Given the description of an element on the screen output the (x, y) to click on. 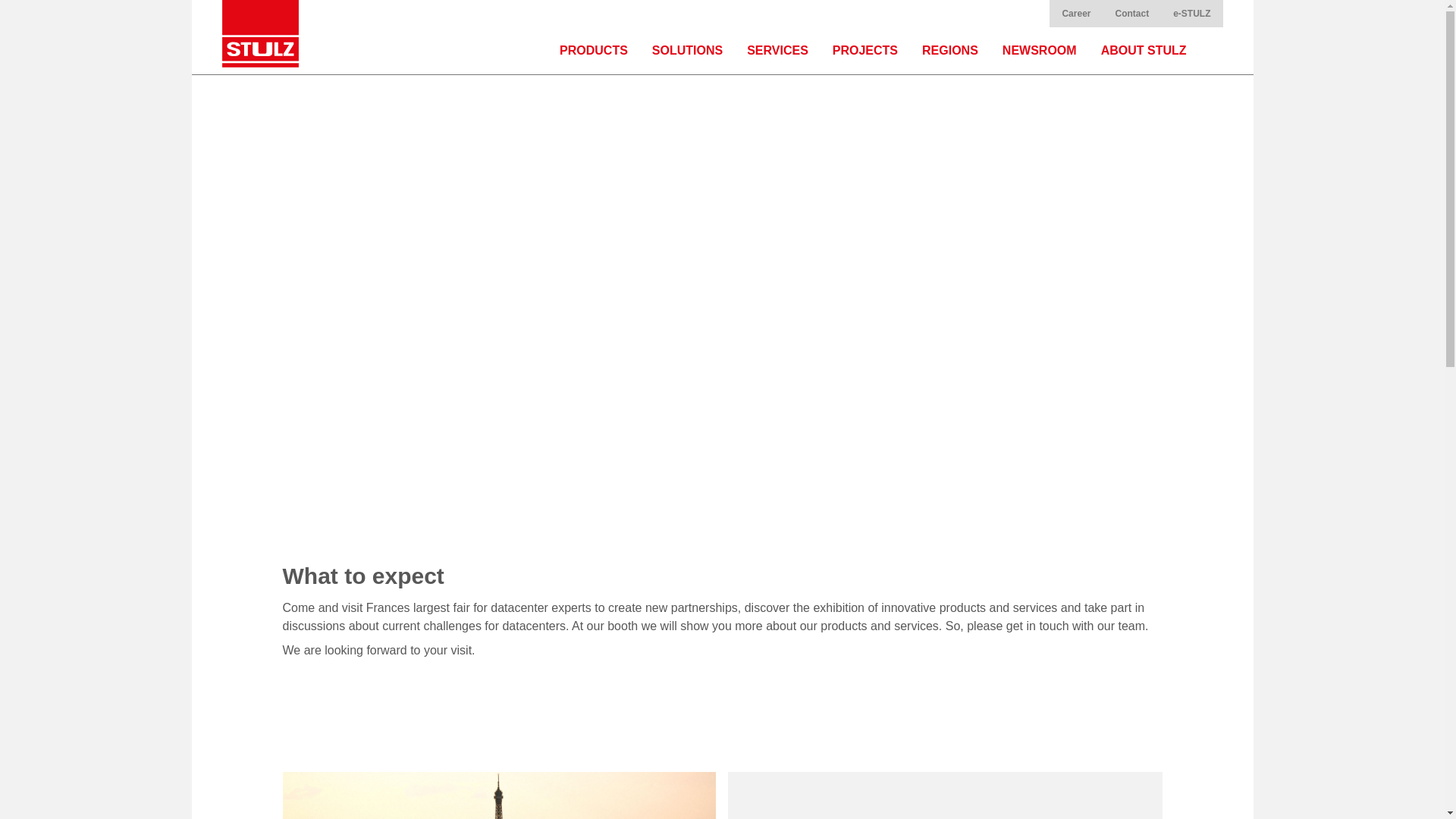
SOLUTIONS (687, 50)
NEWSROOM (1039, 50)
PRODUCTS (593, 50)
Data Centre World Paris (498, 795)
SERVICES (778, 50)
Contact (1131, 13)
REGIONS (950, 50)
e-STULZ (1191, 13)
Career (1075, 13)
PROJECTS (865, 50)
ABOUT STULZ (1143, 50)
